Given the description of an element on the screen output the (x, y) to click on. 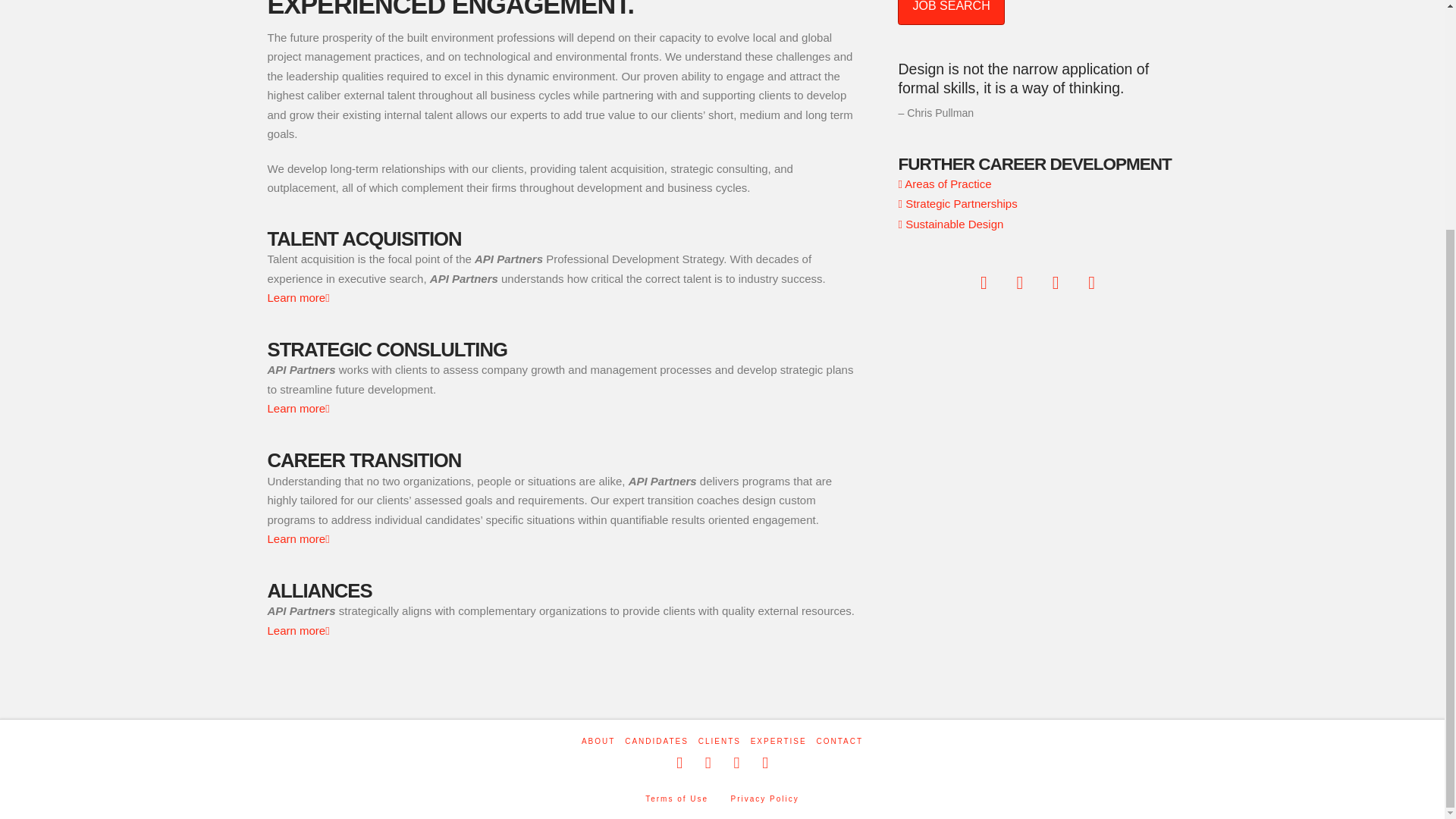
Privacy Policy (764, 798)
Facebook (679, 763)
LinkedIn (736, 763)
Terms of use (676, 798)
Twitter (707, 763)
Tumblr (764, 763)
